Given the description of an element on the screen output the (x, y) to click on. 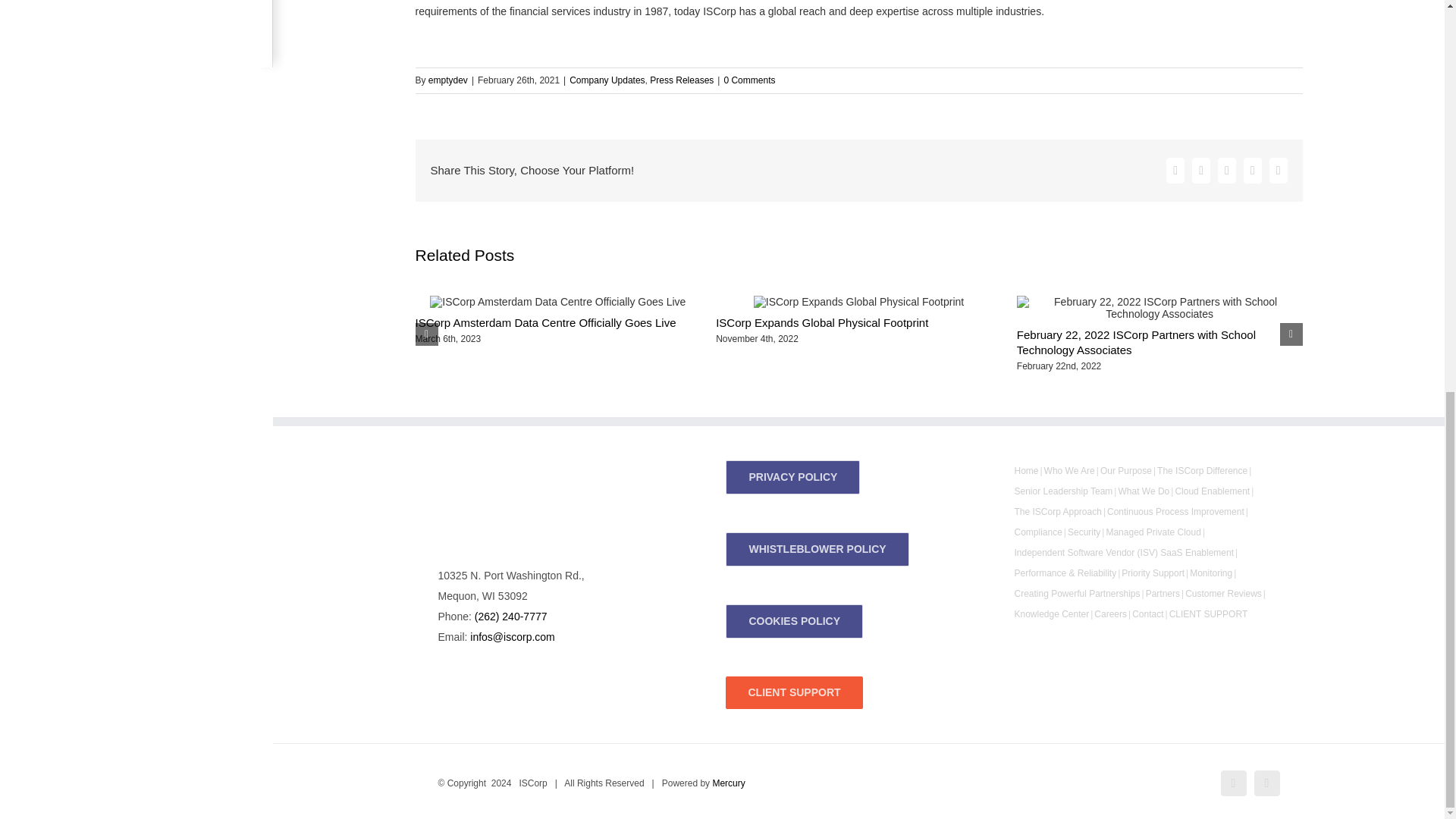
ISCorp Expands Global Physical Footprint (822, 322)
ISCorp Amsterdam Data Centre Officially Goes Live (545, 322)
Posts by emptydev (447, 80)
